Given the description of an element on the screen output the (x, y) to click on. 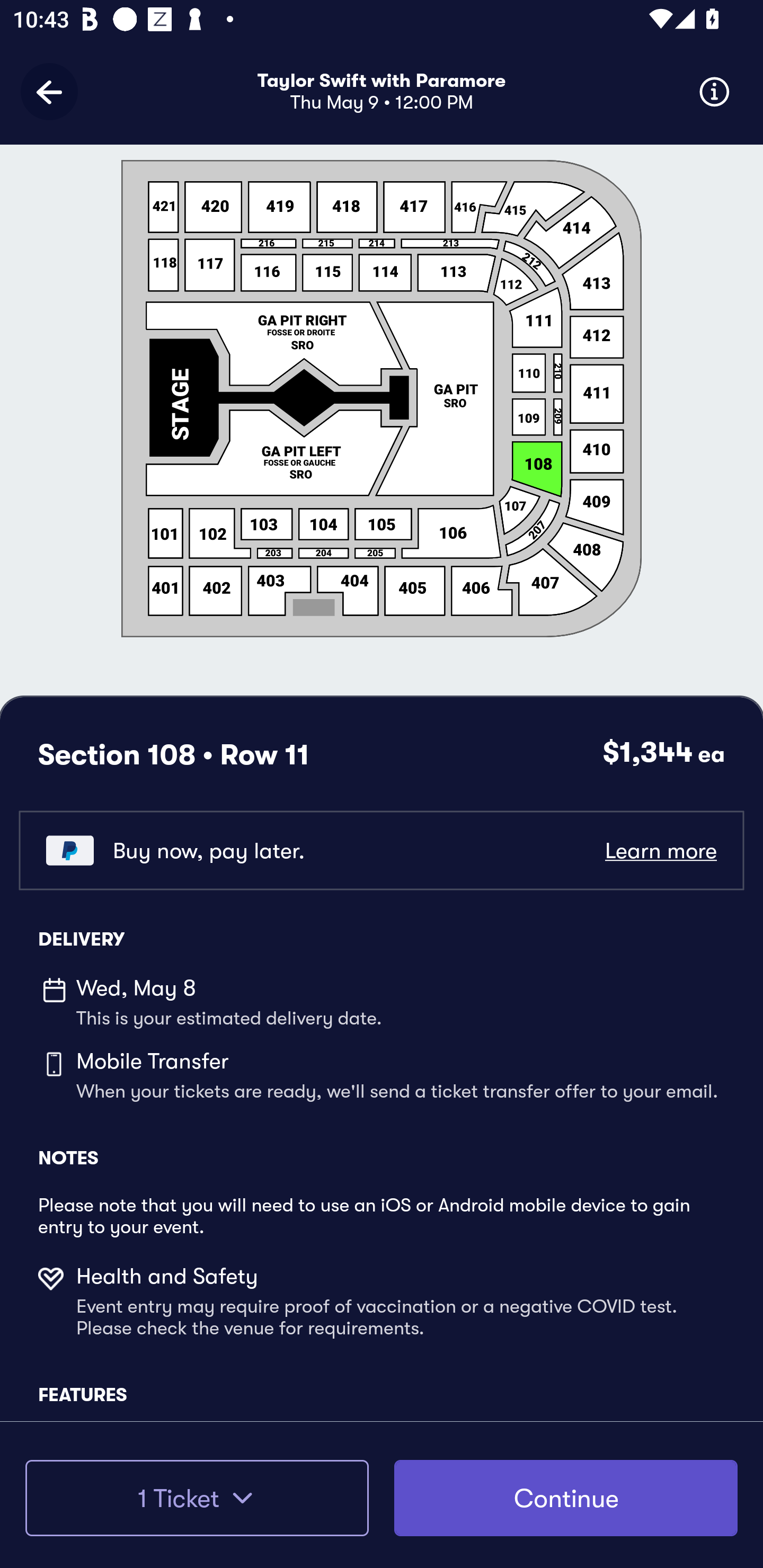
Learn more (660, 850)
1 Ticket (196, 1497)
Continue (565, 1497)
